Given the description of an element on the screen output the (x, y) to click on. 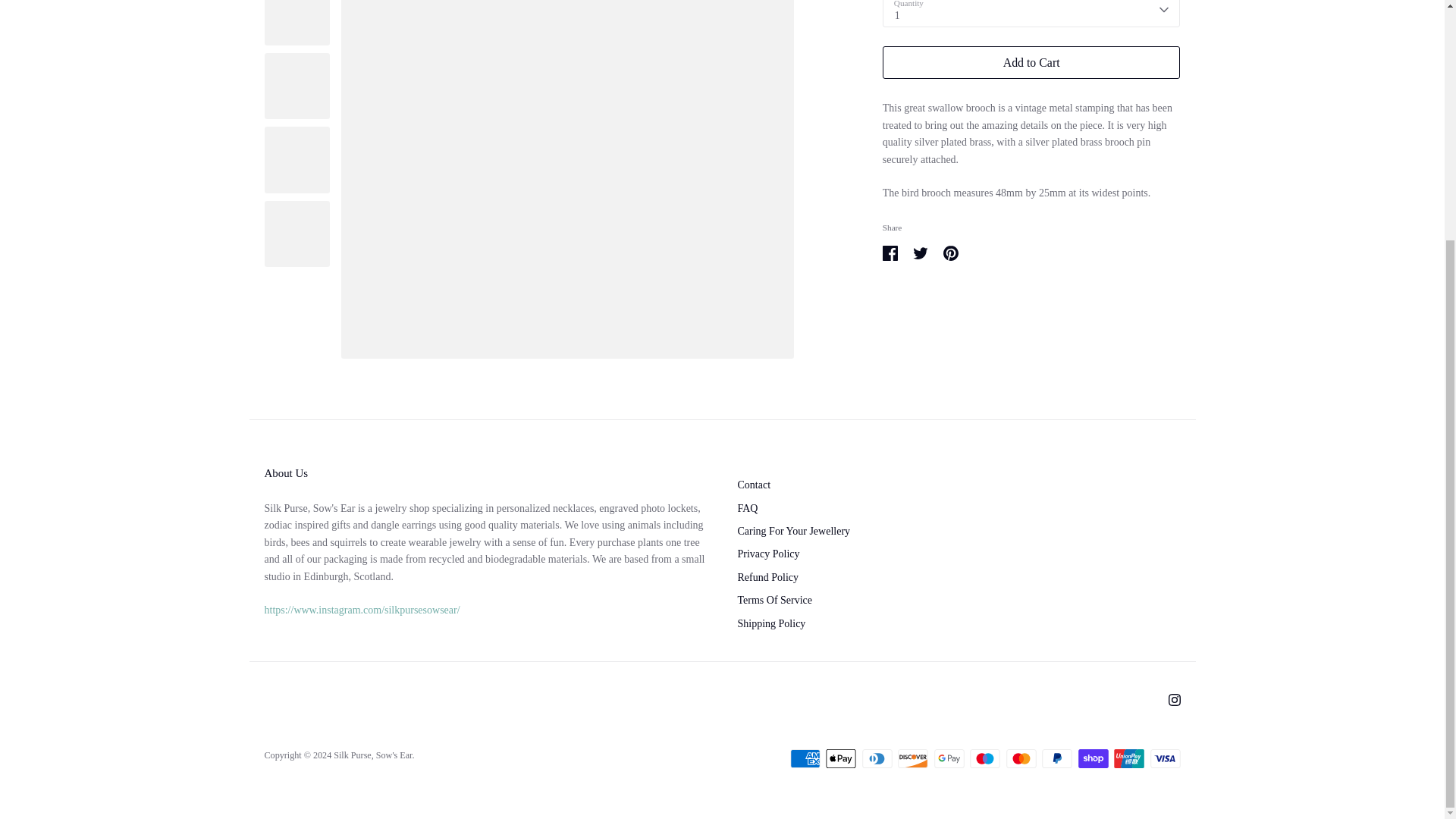
Discover (913, 758)
Add to Cart (1031, 62)
Share on Facebook (890, 253)
Shop Pay (1093, 758)
PayPal (1056, 758)
American Express (805, 758)
Maestro (984, 758)
Visa (1164, 758)
Mastercard (1020, 758)
Union Pay (1128, 758)
